Given the description of an element on the screen output the (x, y) to click on. 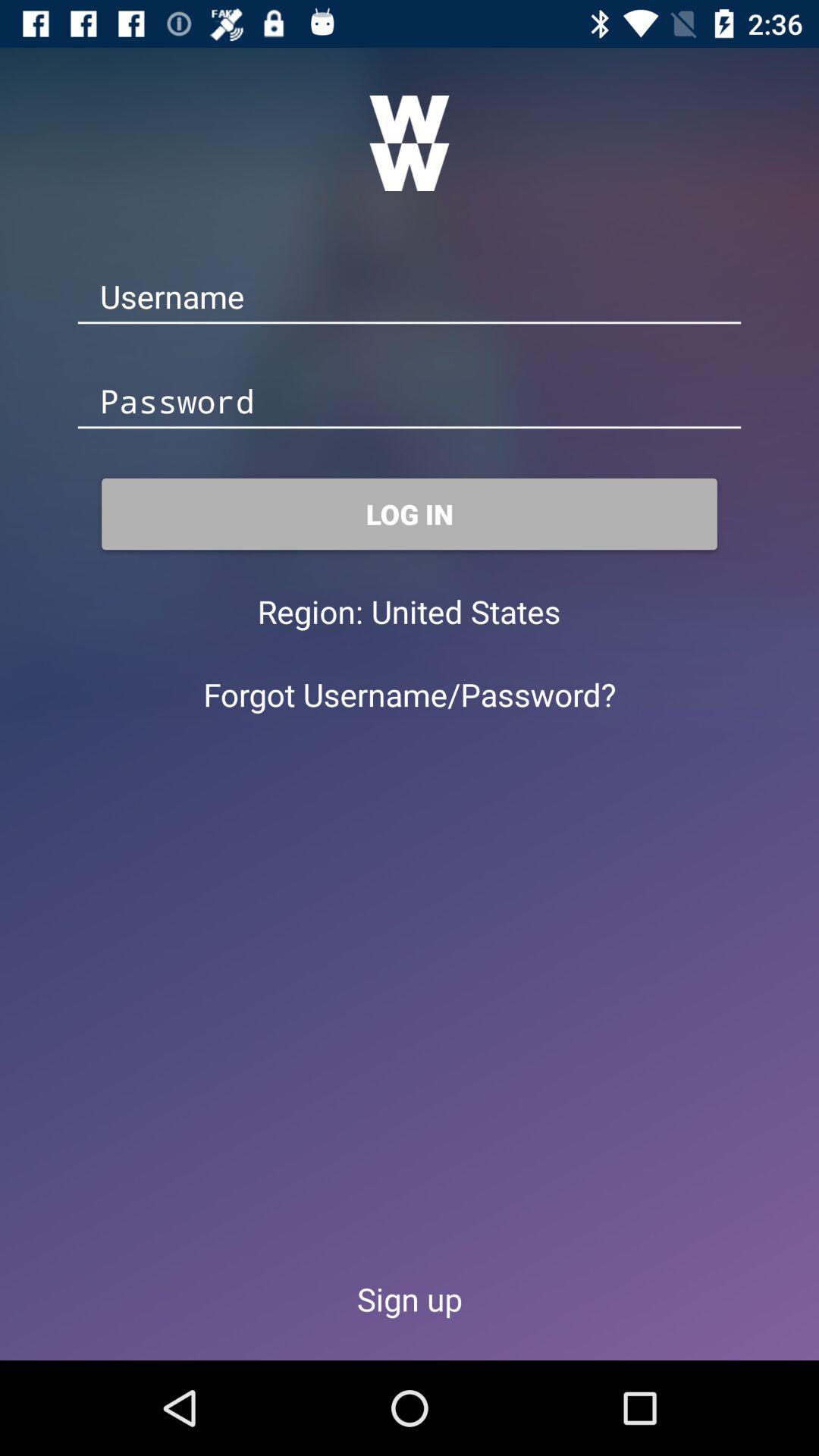
flip to the log in item (409, 513)
